Given the description of an element on the screen output the (x, y) to click on. 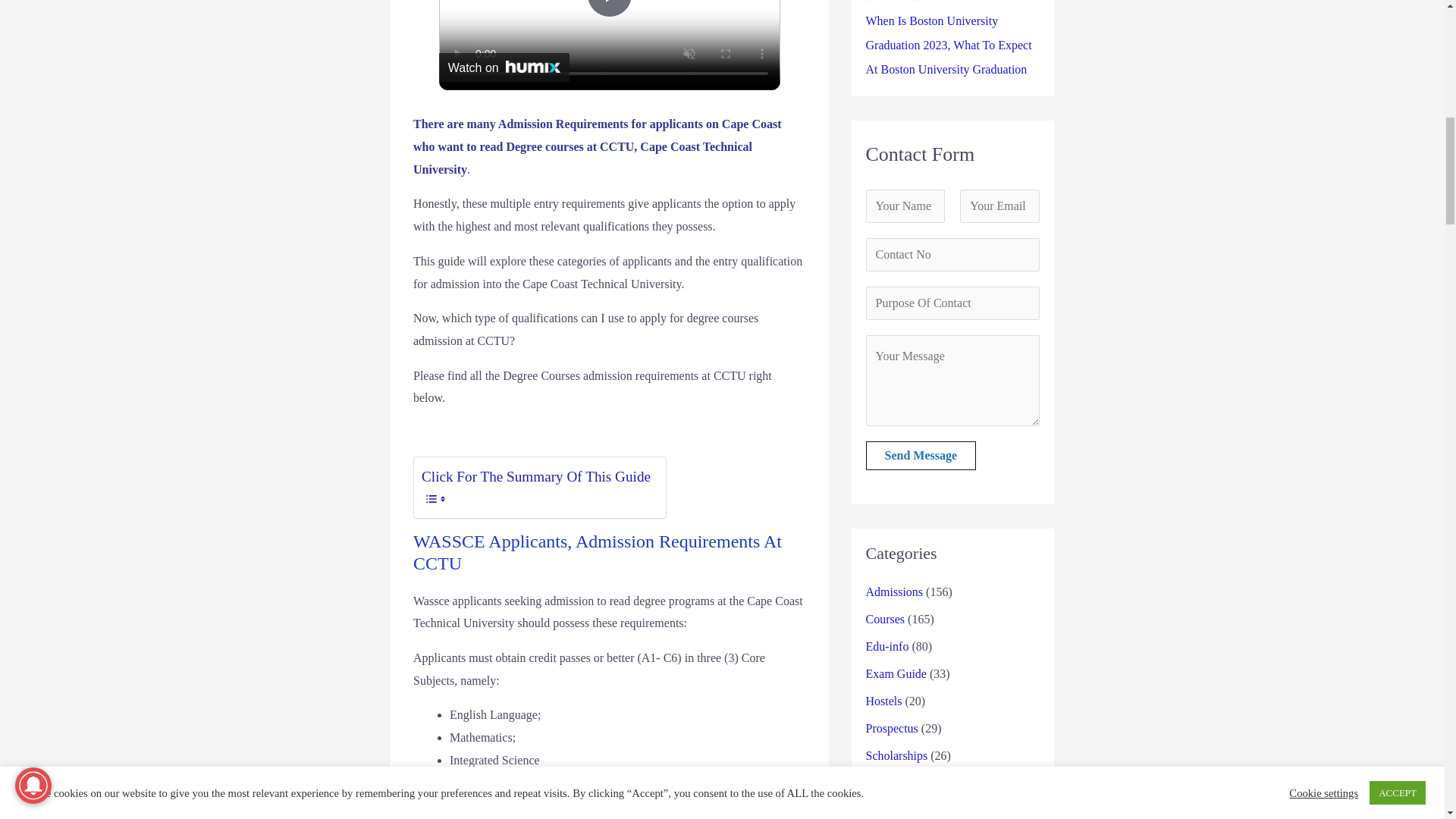
Play Video (608, 8)
Play Video (608, 8)
